Given the description of an element on the screen output the (x, y) to click on. 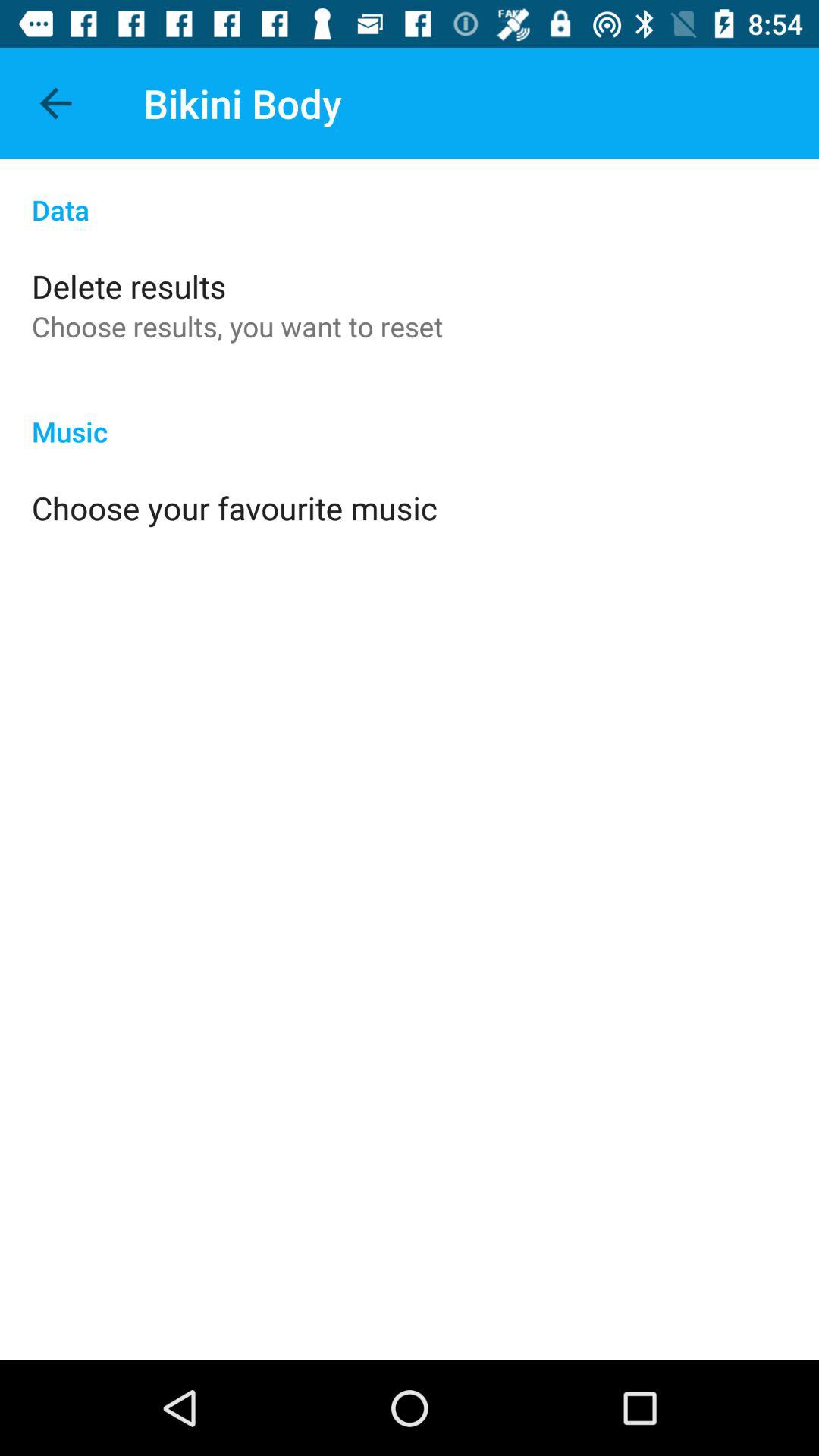
click icon on the left (234, 507)
